Given the description of an element on the screen output the (x, y) to click on. 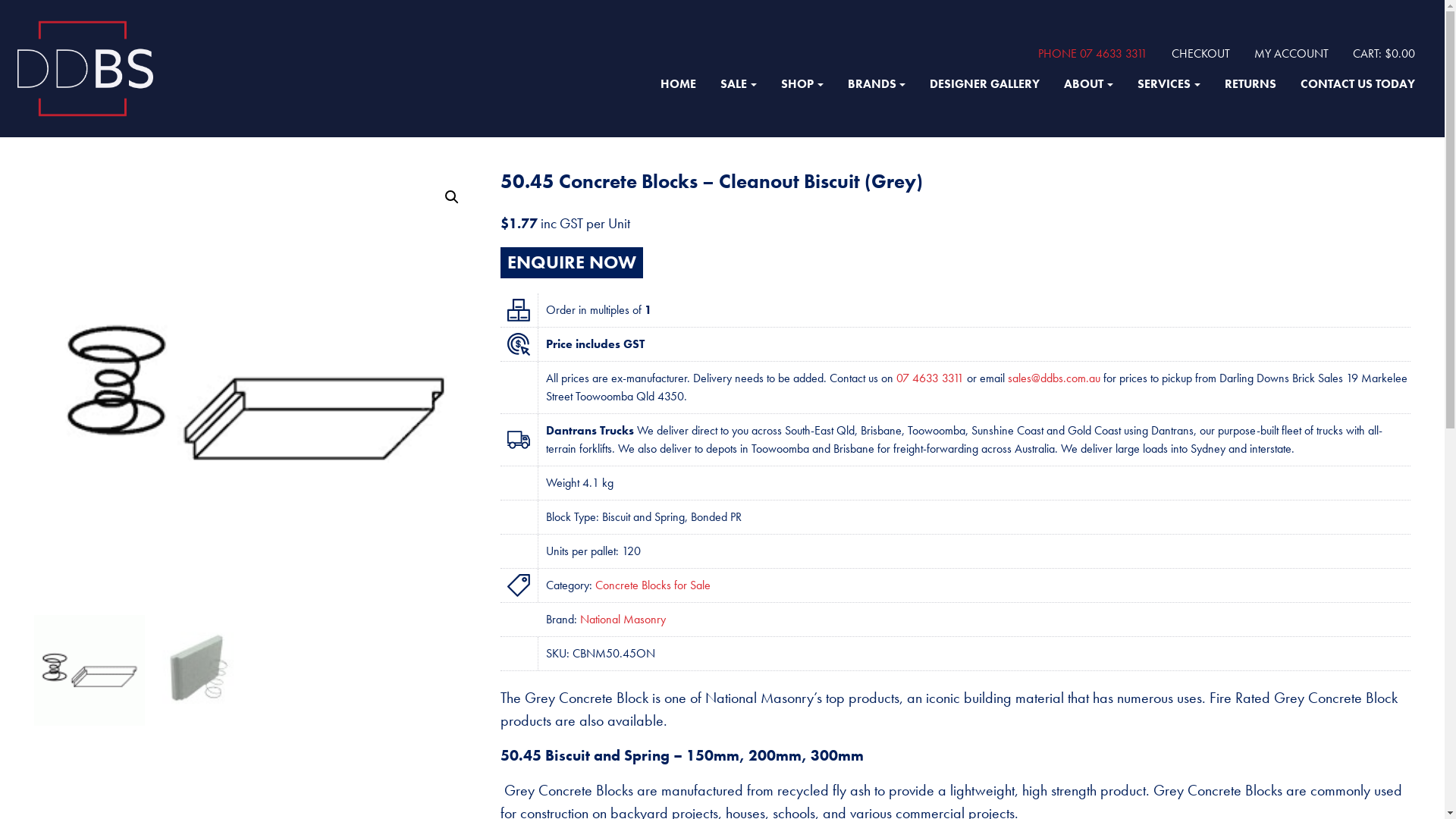
ENQUIRE NOW Element type: text (571, 263)
SALE Element type: text (738, 84)
CHECKOUT Element type: text (1200, 53)
PHONE 07 4633 3311 Element type: text (1092, 53)
CONTACT US TODAY Element type: text (1357, 84)
BRANDS Element type: text (876, 84)
sales@ddbs.com.au Element type: text (1053, 377)
CART: $0.00 Element type: text (1383, 53)
RETURNS Element type: text (1250, 84)
HOME Element type: text (678, 84)
SERVICES Element type: text (1168, 84)
MY ACCOUNT Element type: text (1291, 53)
SHOP Element type: text (801, 84)
DESIGNER GALLERY Element type: text (984, 84)
Concrete Blocks for Sale Element type: text (652, 585)
07 4633 3311 Element type: text (929, 377)
National Masonry Element type: text (622, 619)
ABOUT Element type: text (1088, 84)
